Given the description of an element on the screen output the (x, y) to click on. 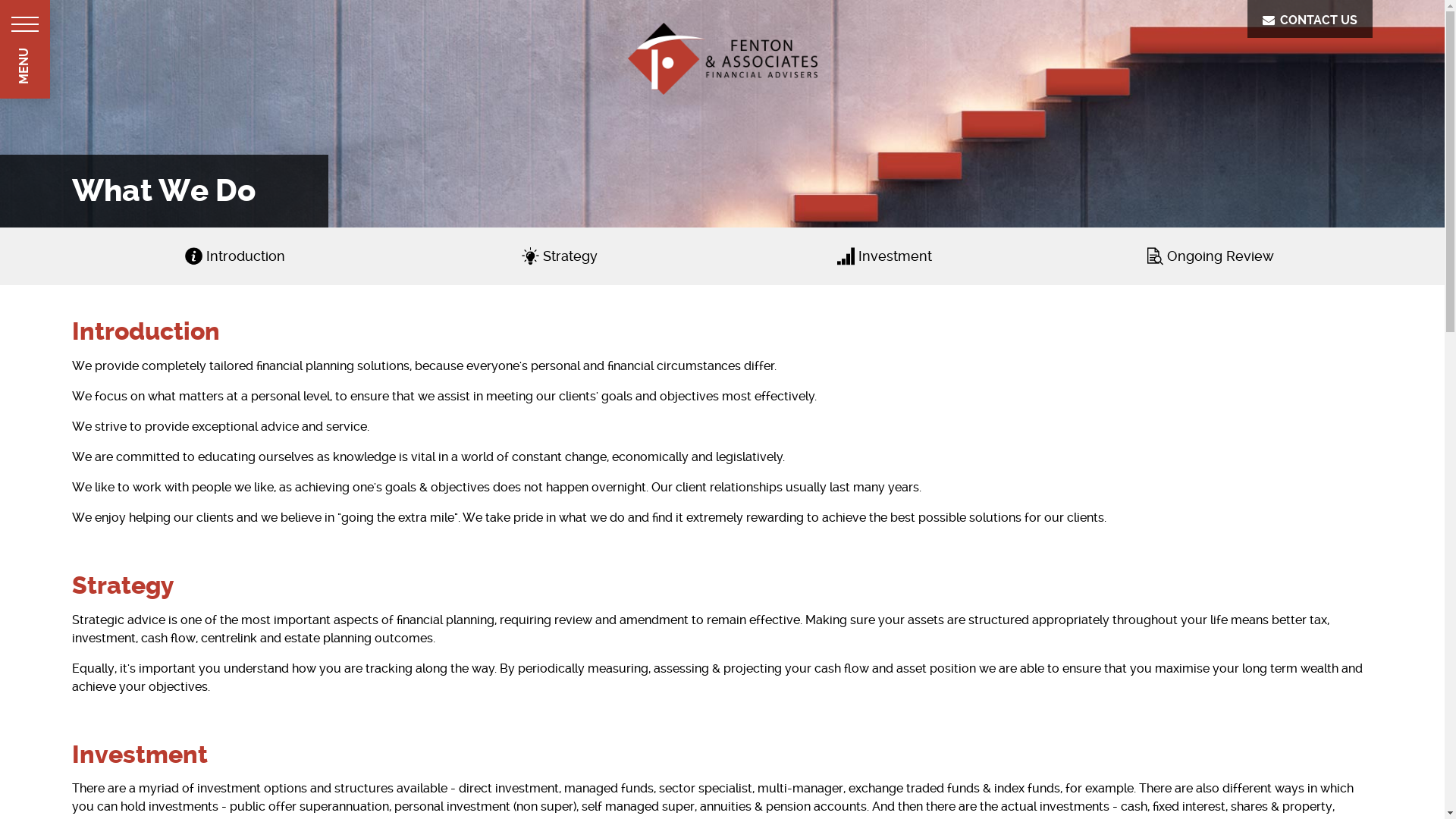
Strategy Element type: text (559, 256)
Investment Element type: text (884, 256)
Ongoing Review Element type: text (1209, 256)
Introduction Element type: text (235, 256)
CONTACT US Element type: text (1309, 18)
